Given the description of an element on the screen output the (x, y) to click on. 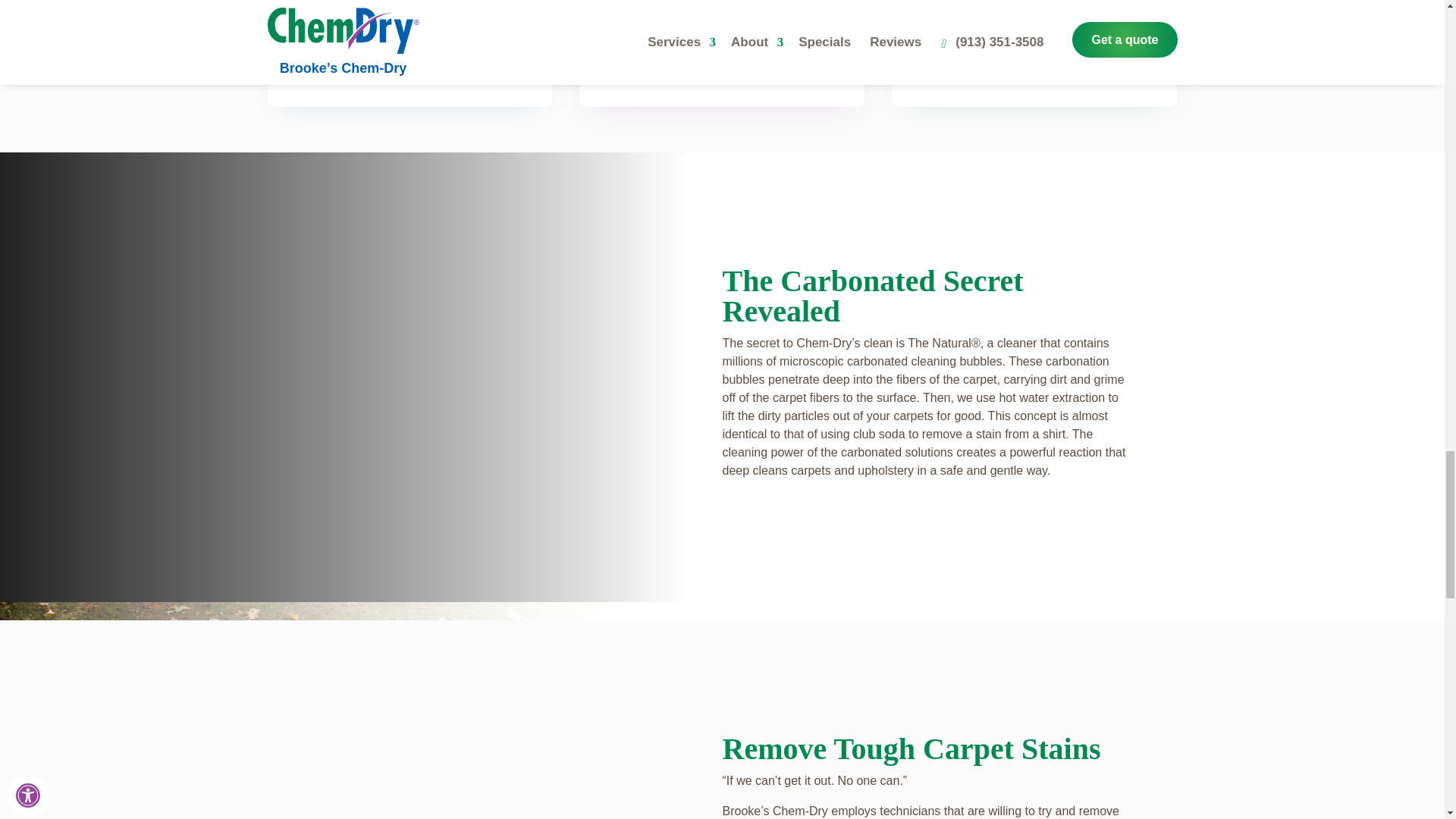
Spilled-Soda-Cup.I11.2k (467, 751)
